Given the description of an element on the screen output the (x, y) to click on. 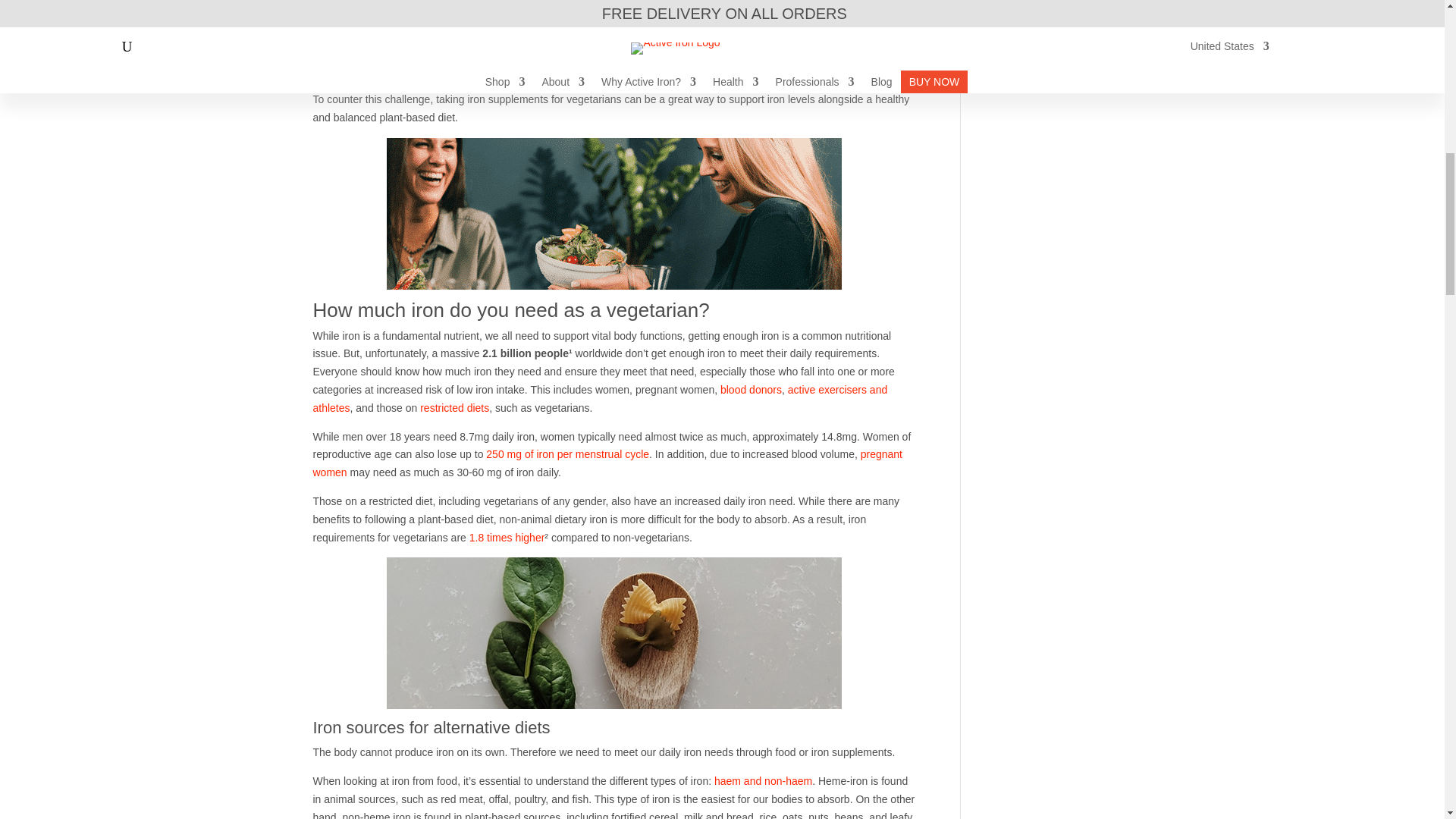
restricted diets (454, 408)
blood donors (750, 389)
active exercisers and athletes (599, 399)
